Given the description of an element on the screen output the (x, y) to click on. 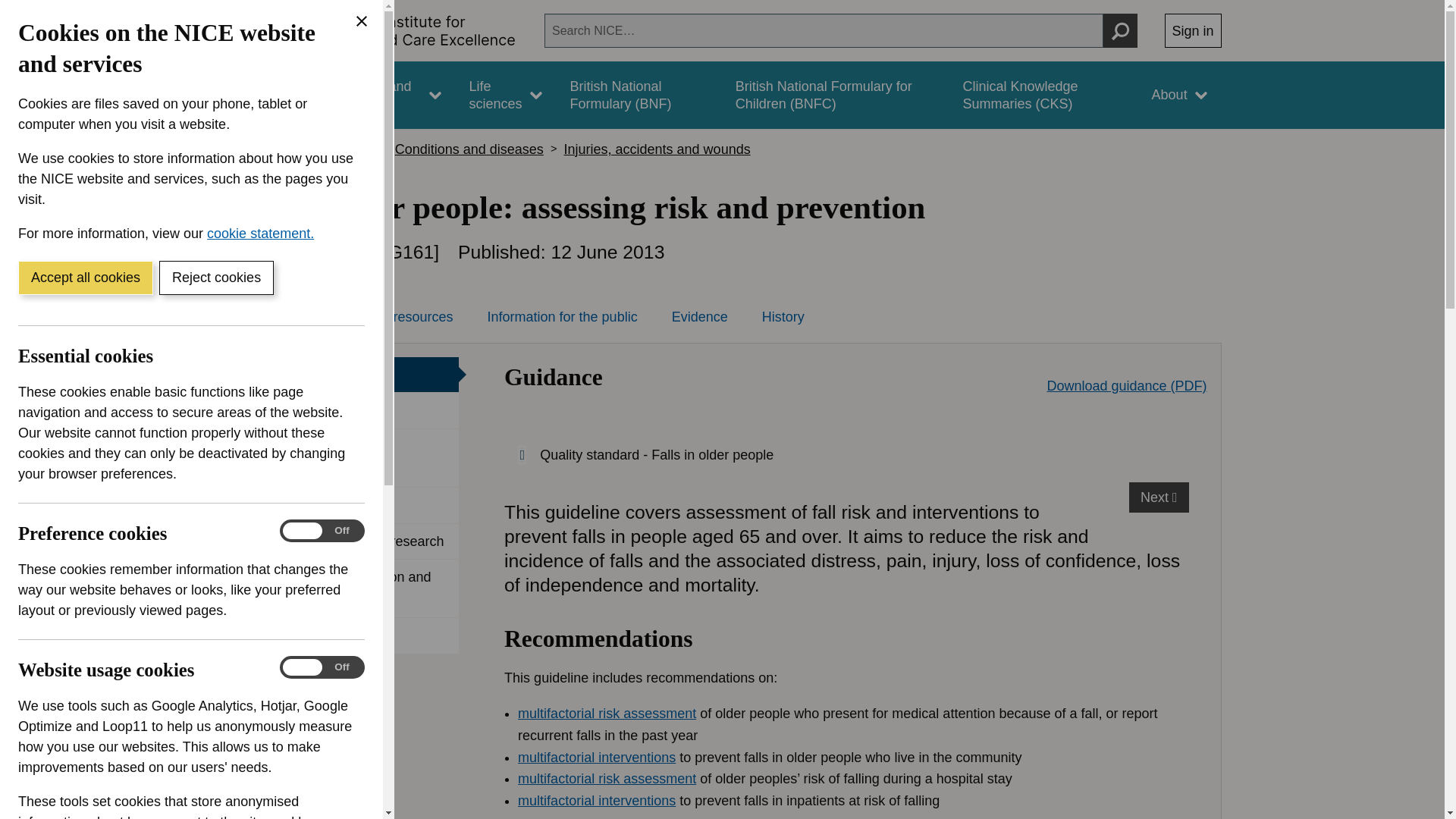
Life sciences (505, 94)
Accept all cookies (84, 277)
Sign in (1192, 30)
Guidance (265, 94)
Reject cookies (215, 277)
Standards and indicators (381, 94)
